Given the description of an element on the screen output the (x, y) to click on. 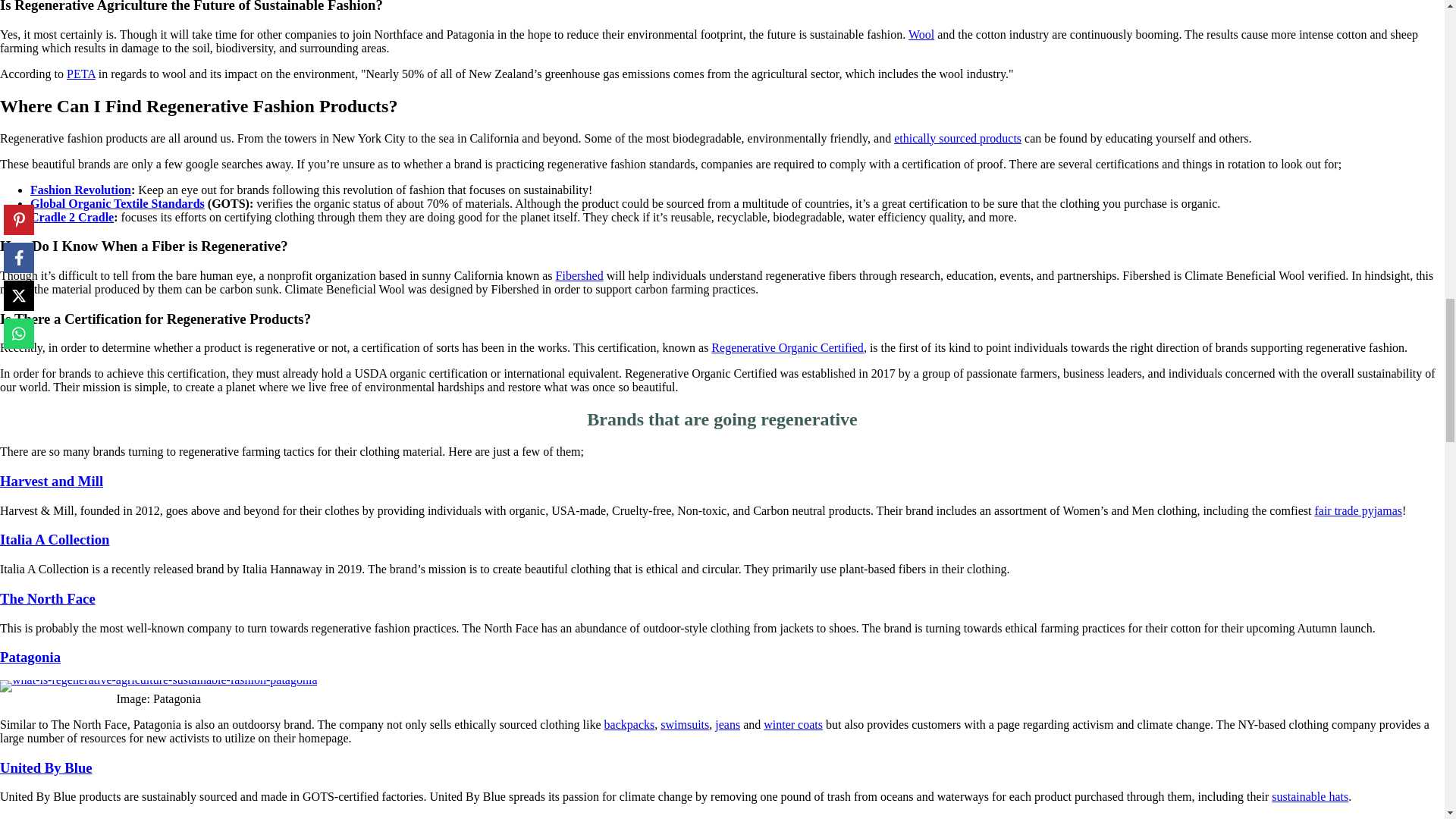
Wool (921, 33)
